Given the description of an element on the screen output the (x, y) to click on. 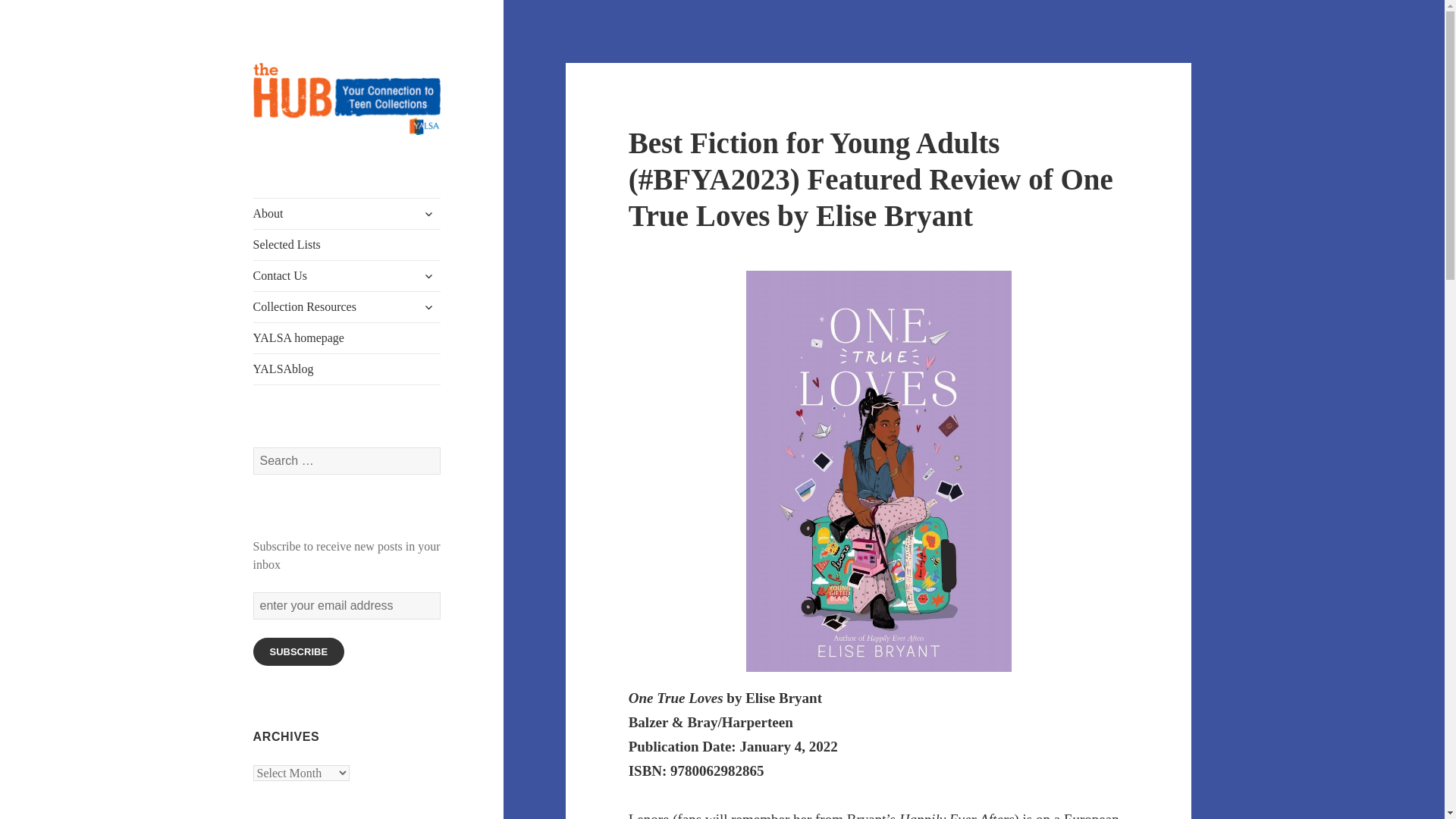
expand child menu (428, 275)
About (347, 214)
expand child menu (428, 306)
Collection Resources (347, 306)
expand child menu (428, 213)
The Hub (293, 159)
Contact Us (347, 276)
SUBSCRIBE (299, 651)
YALSAblog (347, 368)
